Given the description of an element on the screen output the (x, y) to click on. 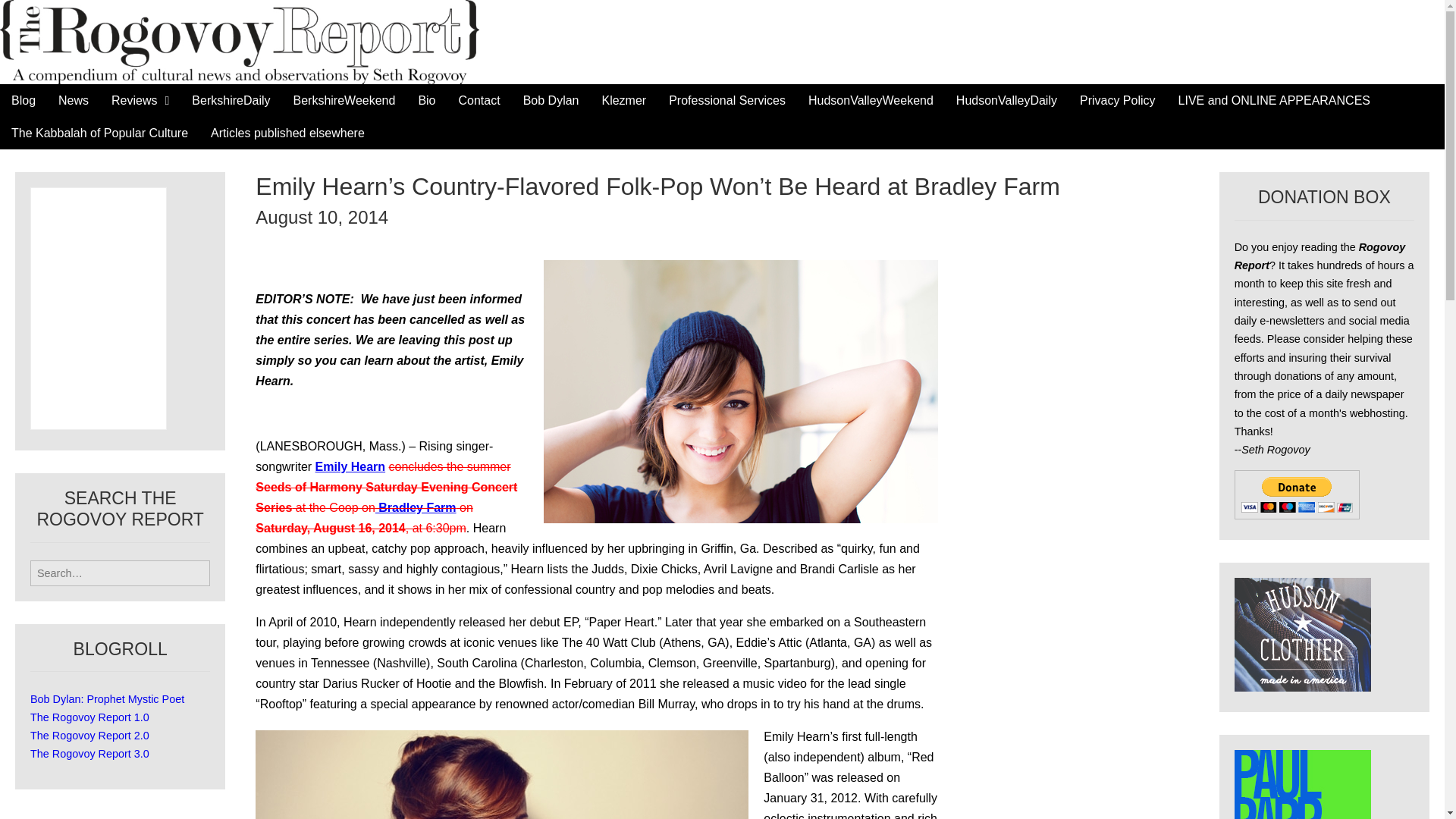
Skip to content (40, 94)
The Rogovoy Report 1.0 (89, 717)
Skip to content (40, 94)
Bradley Farm (416, 507)
The Rogovoy Report 3.0 (89, 753)
The Kabbalah of Popular Culture (99, 133)
Reviews (140, 100)
Contact (479, 100)
News (73, 100)
Professional Services (727, 100)
Articles published elsewhere (287, 133)
Emily Hearn (350, 466)
Bob Dylan (551, 100)
Blog (23, 100)
BerkshireDaily (230, 100)
